Given the description of an element on the screen output the (x, y) to click on. 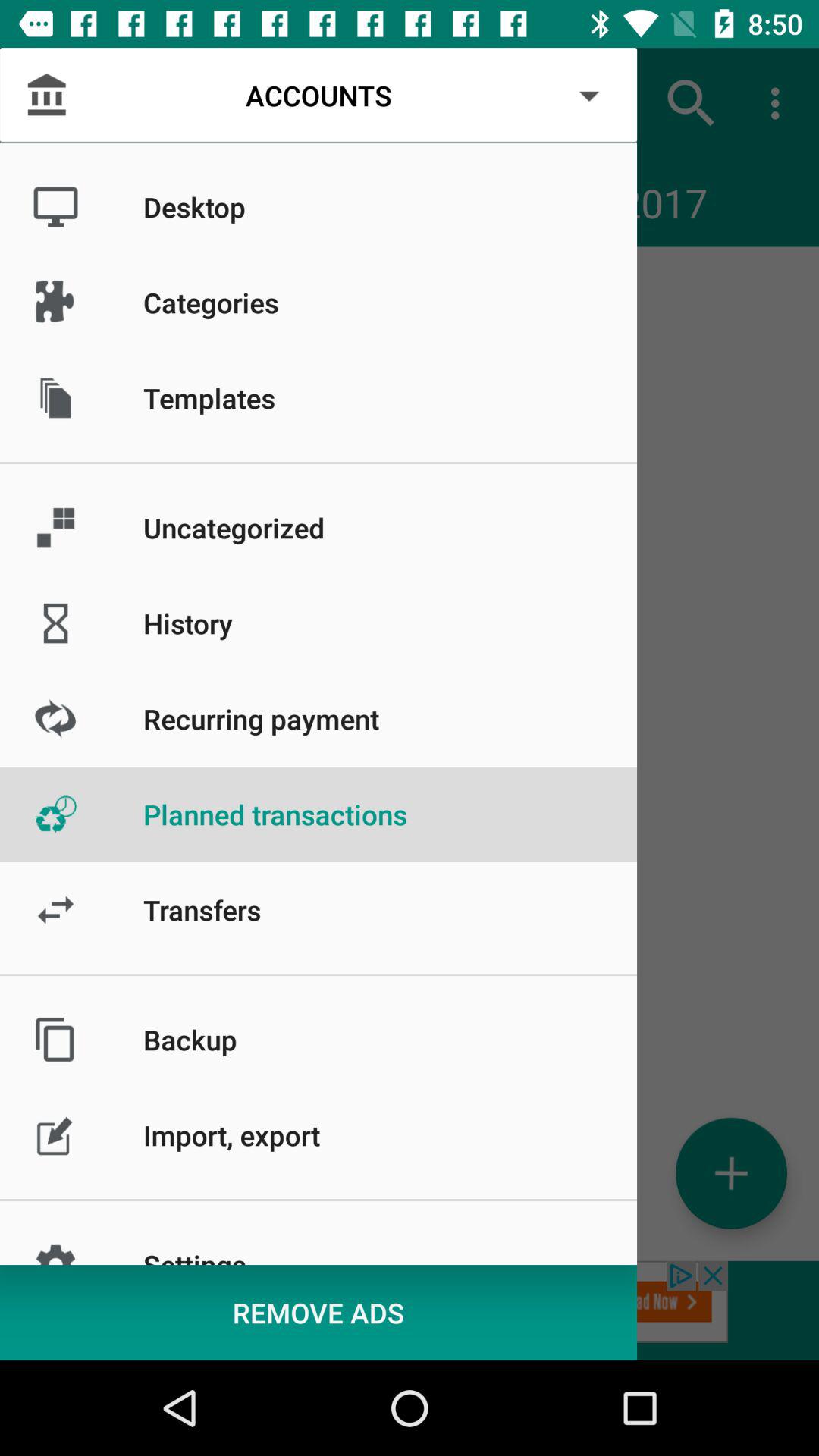
remove advertisements (409, 1310)
